Given the description of an element on the screen output the (x, y) to click on. 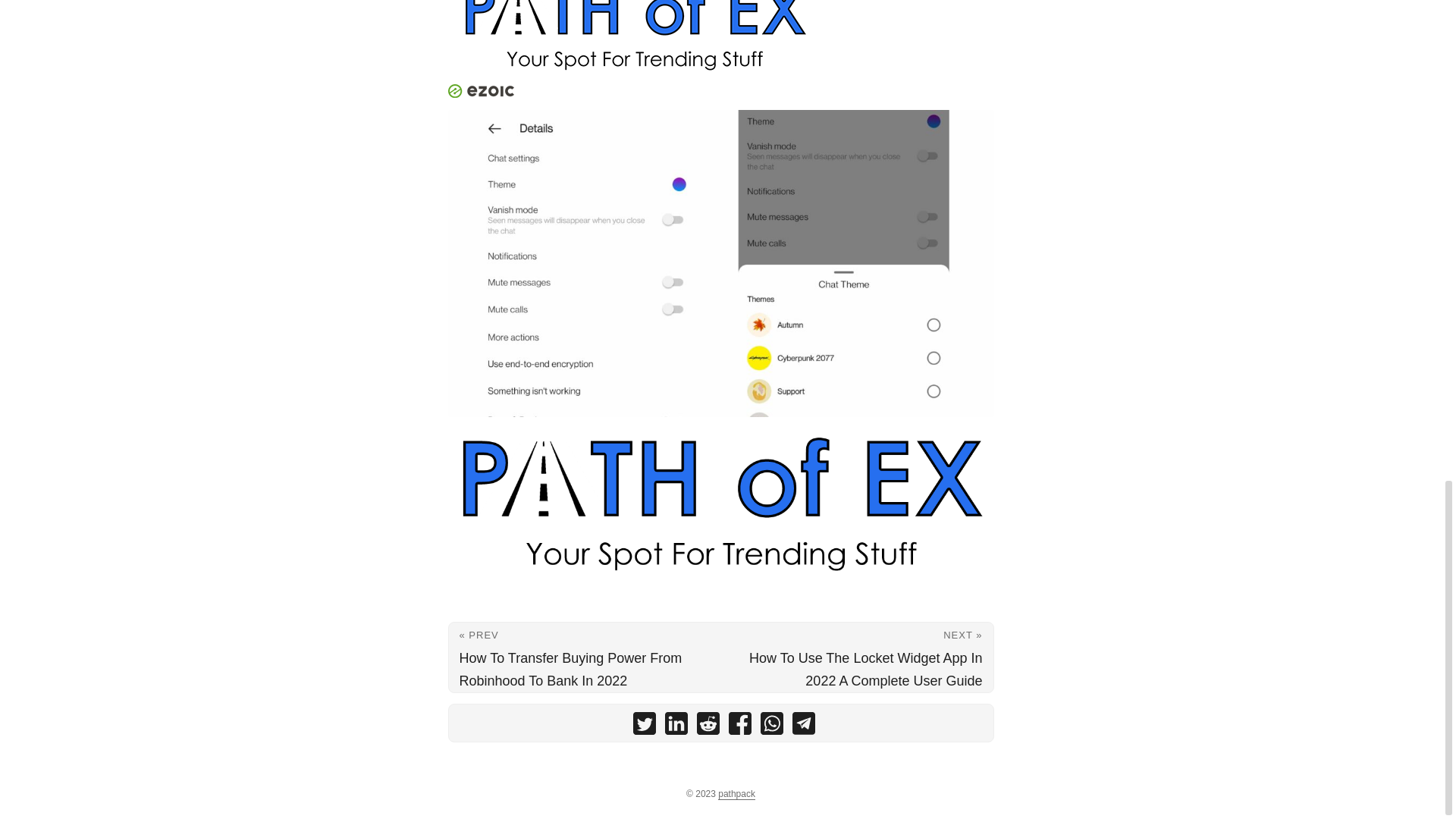
pathpack (736, 794)
